Given the description of an element on the screen output the (x, y) to click on. 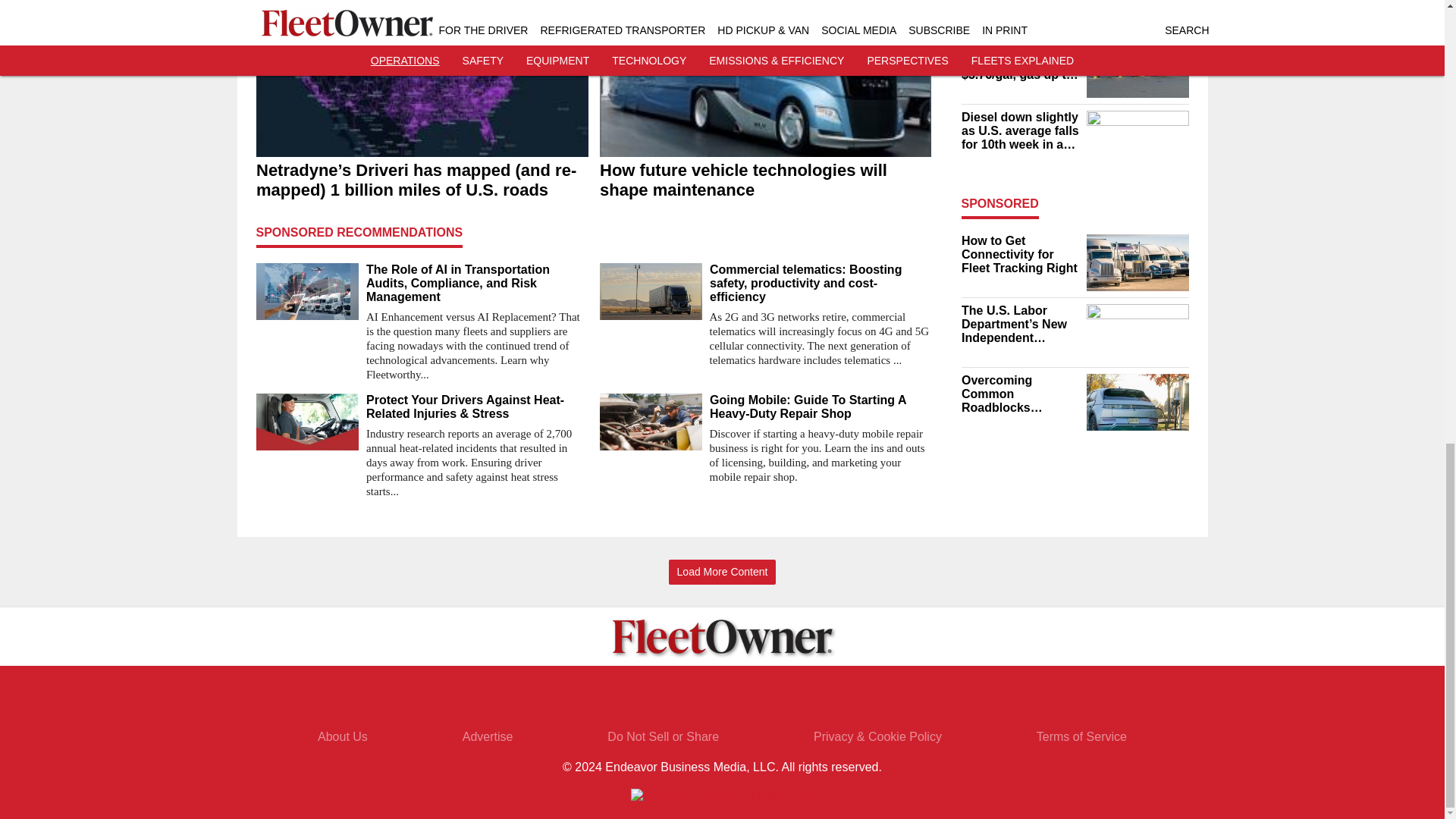
How future vehicle technologies will shape maintenance (764, 179)
Going Mobile: Guide To Starting A Heavy-Duty Repair Shop (820, 406)
